Given the description of an element on the screen output the (x, y) to click on. 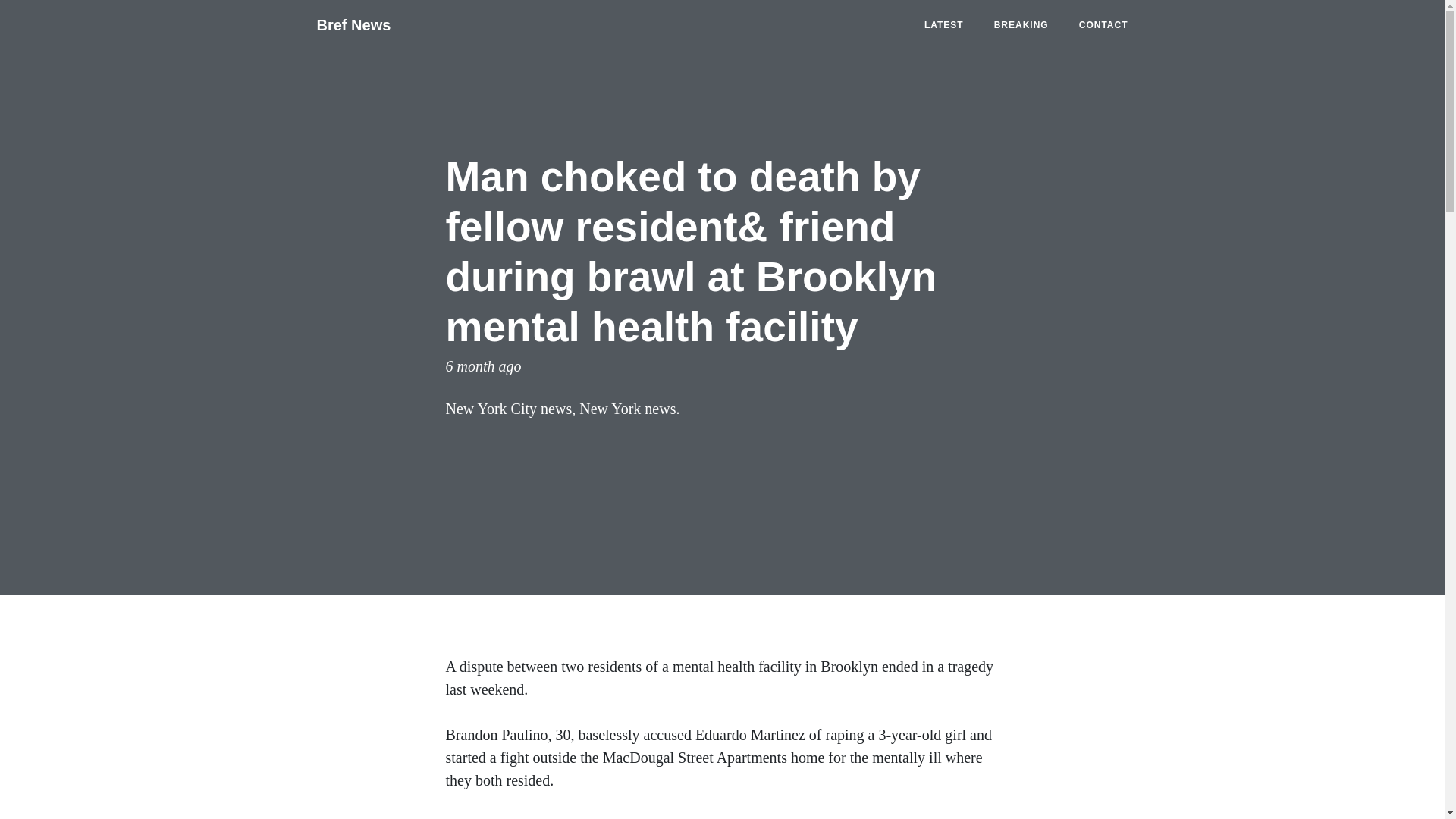
CONTACT (1103, 24)
BREAKING (1021, 24)
Bref News (353, 24)
LATEST (943, 24)
New York City news (508, 408)
New York news (627, 408)
